Given the description of an element on the screen output the (x, y) to click on. 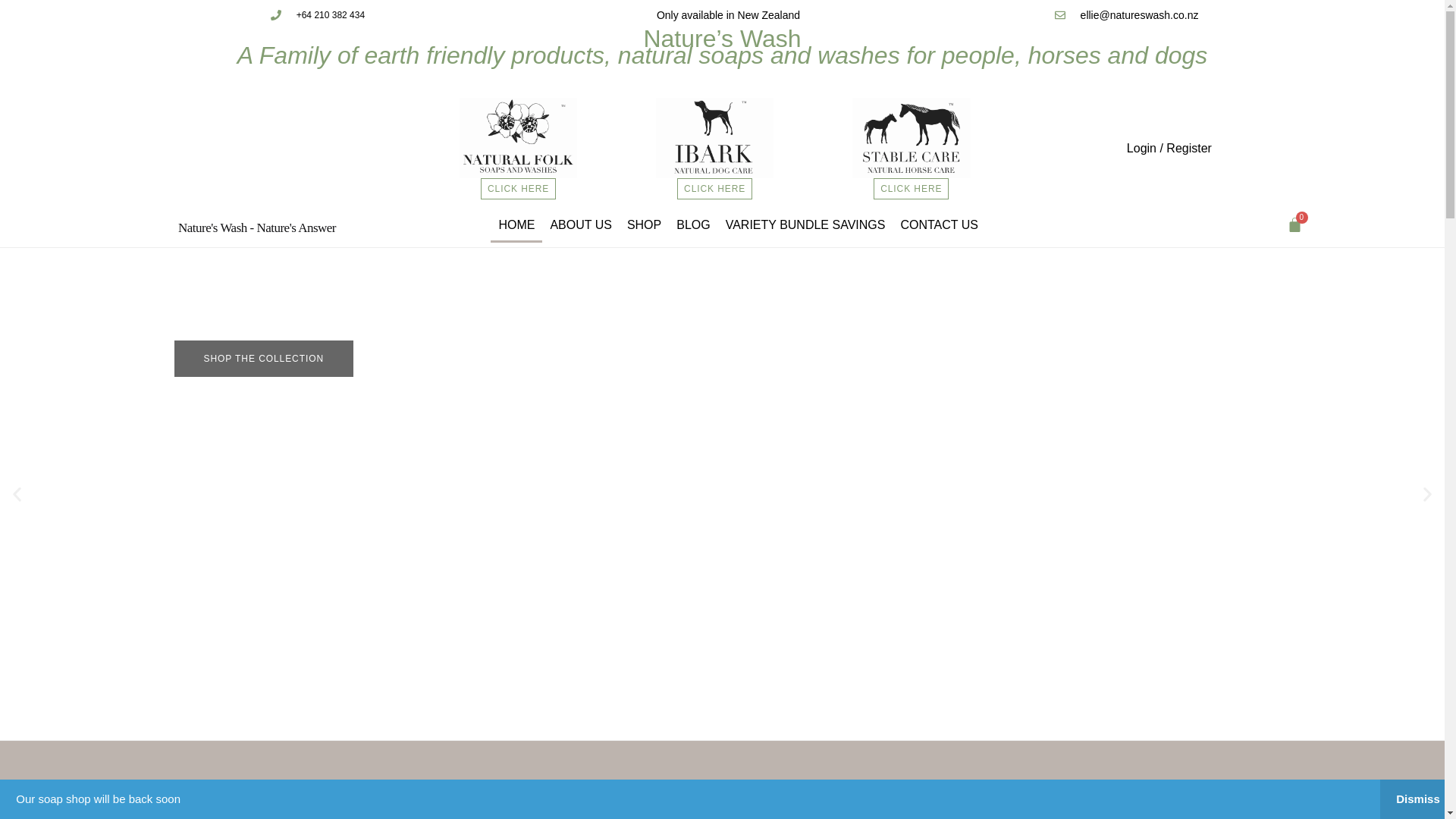
BLOG (692, 225)
CLICK HERE (518, 188)
ABOUT US (580, 225)
CONTACT US (938, 225)
SHOP (644, 225)
CLICK HERE (714, 188)
0 (1294, 224)
HOME (515, 225)
VARIETY BUNDLE SAVINGS (805, 225)
CLICK HERE (911, 188)
